Given the description of an element on the screen output the (x, y) to click on. 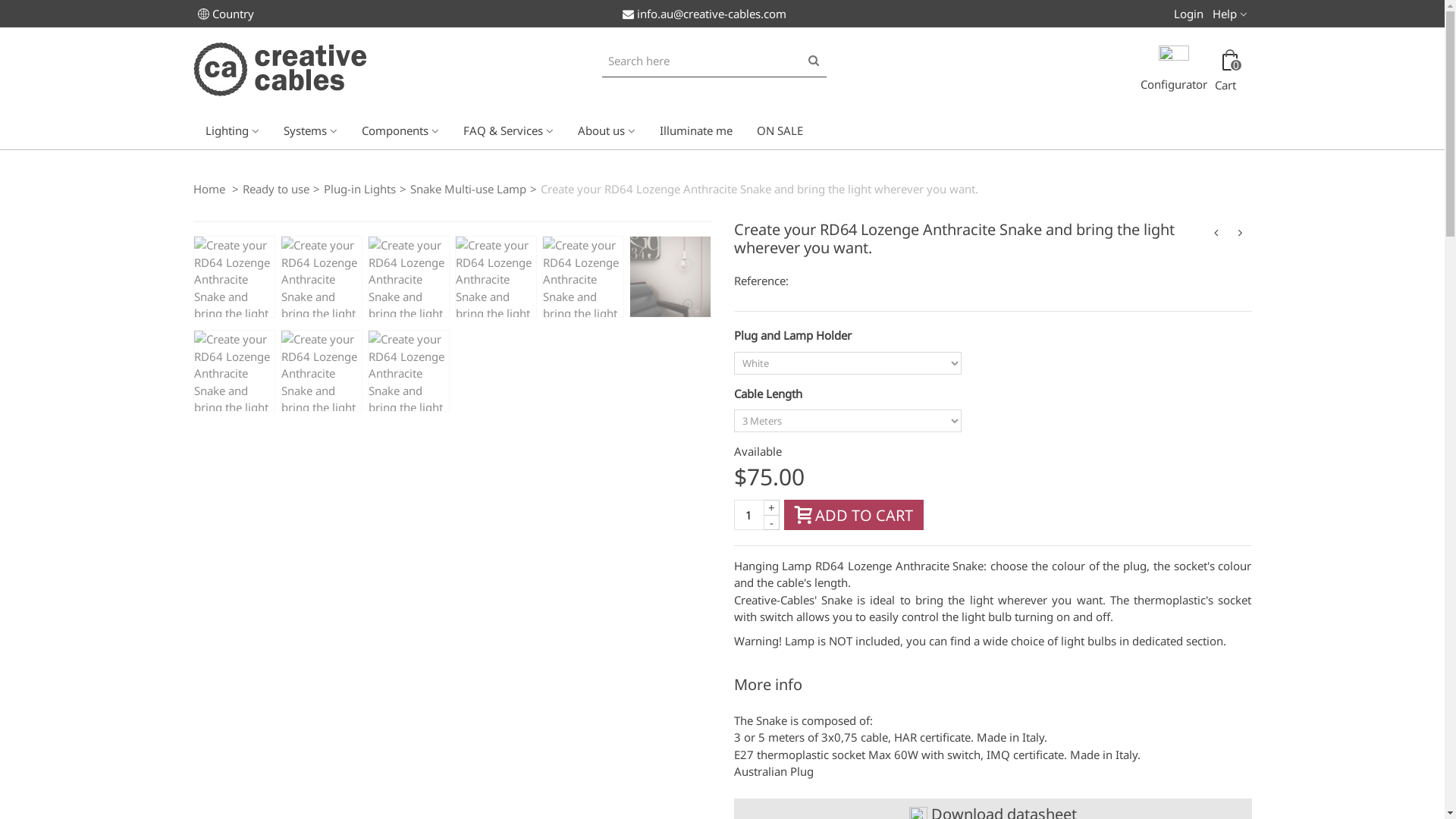
Configurator Element type: text (1173, 71)
  Element type: text (993, 685)
0

Cart Element type: text (1228, 71)
ON SALE Element type: text (779, 129)
Snake Multi-use Lamp Element type: text (467, 187)
Plug-in Lights Element type: text (359, 187)
Components Element type: text (399, 129)
Illuminate me Element type: text (695, 129)
Home Element type: text (209, 187)
Login Element type: text (1188, 11)
+ Element type: text (771, 506)
- Element type: text (771, 522)
FAQ & Services Element type: text (507, 129)
Ready to use Element type: text (275, 187)
info.au@creative-cables.com Element type: text (703, 13)
ADD TO CART Element type: text (853, 514)
Lighting Element type: text (231, 129)
Systems Element type: text (310, 129)
Country Element type: text (225, 13)
About us Element type: text (606, 129)
Creative-Cables AU Element type: hover (278, 67)
